Given the description of an element on the screen output the (x, y) to click on. 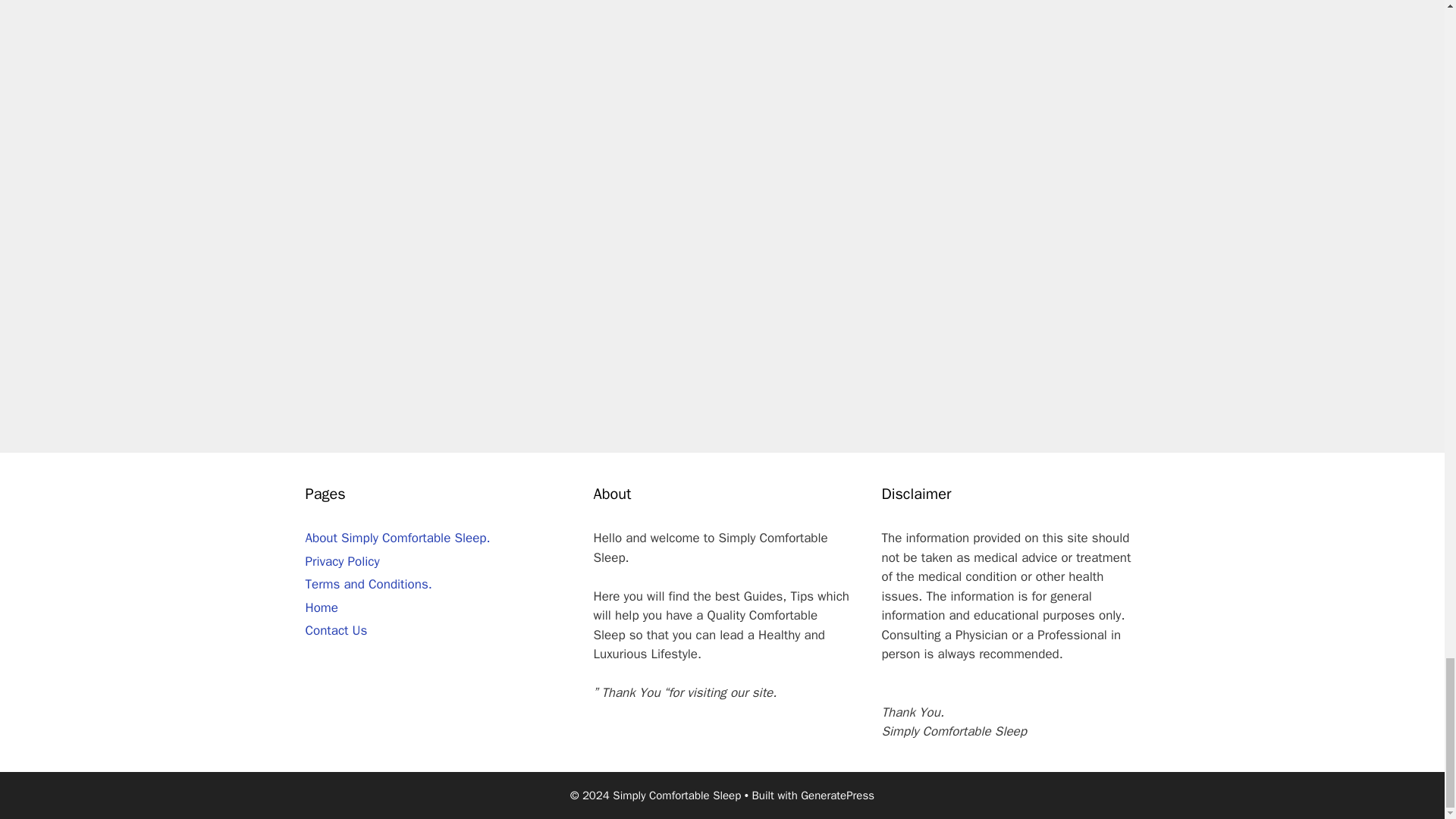
Terms and Conditions. (367, 584)
Home (320, 607)
Contact Us (335, 630)
Privacy Policy (341, 561)
About Simply Comfortable Sleep. (396, 537)
GeneratePress (837, 795)
